Given the description of an element on the screen output the (x, y) to click on. 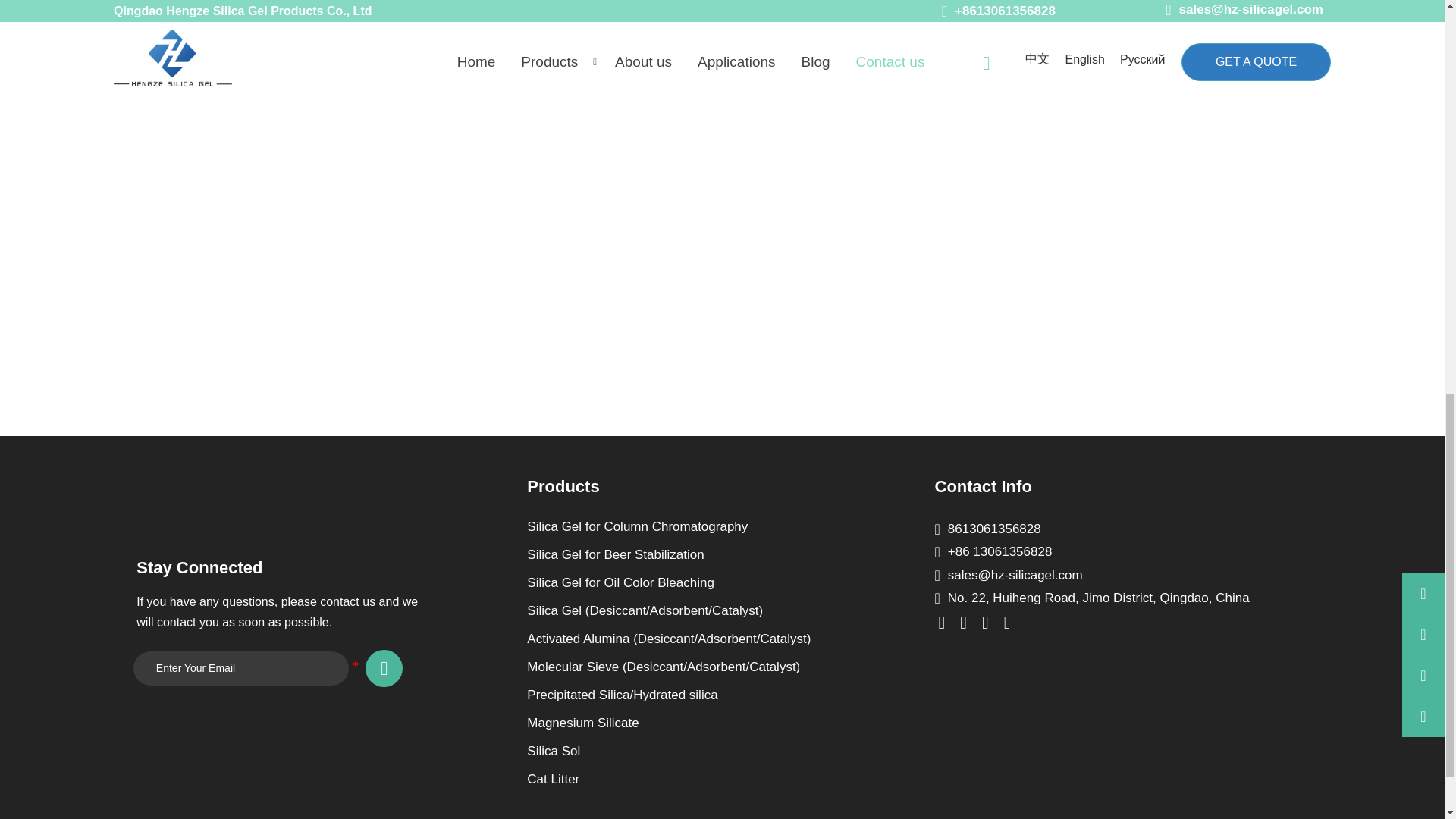
Silica Gel for Oil Color Bleaching (694, 582)
Silica Gel for Beer Stabilization (694, 554)
Silica Gel for Column Chromatography (694, 526)
Magnesium Silicate (694, 723)
Silica Sol (694, 751)
